Given the description of an element on the screen output the (x, y) to click on. 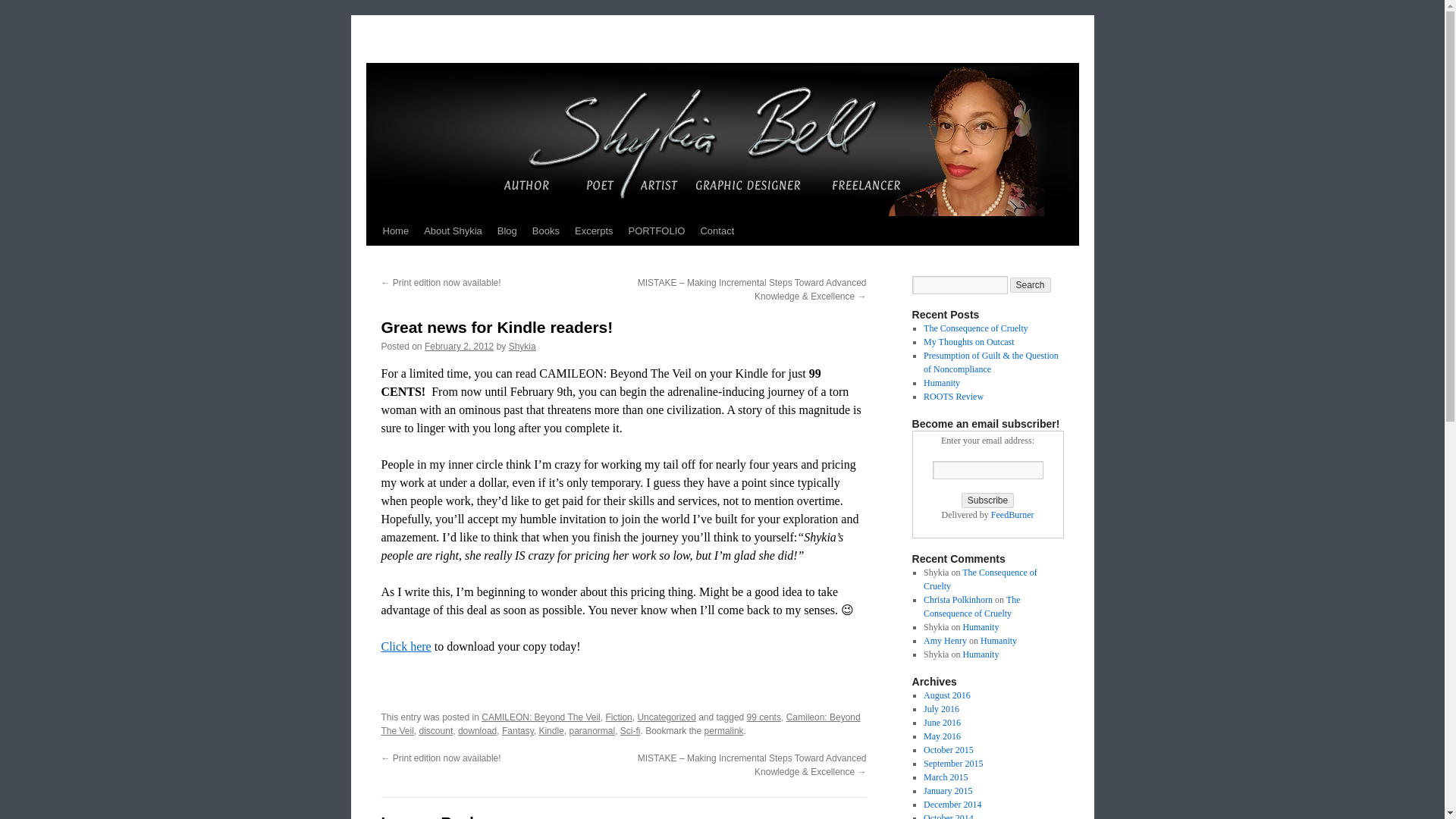
Camileon: Beyond The Veil (620, 723)
1:25 pm (459, 346)
View all posts by Shykia (521, 346)
Shykia (521, 346)
Books (545, 231)
Subscribe (986, 500)
February 2, 2012 (459, 346)
Click here (405, 645)
Humanity (941, 382)
Blog (506, 231)
